Given the description of an element on the screen output the (x, y) to click on. 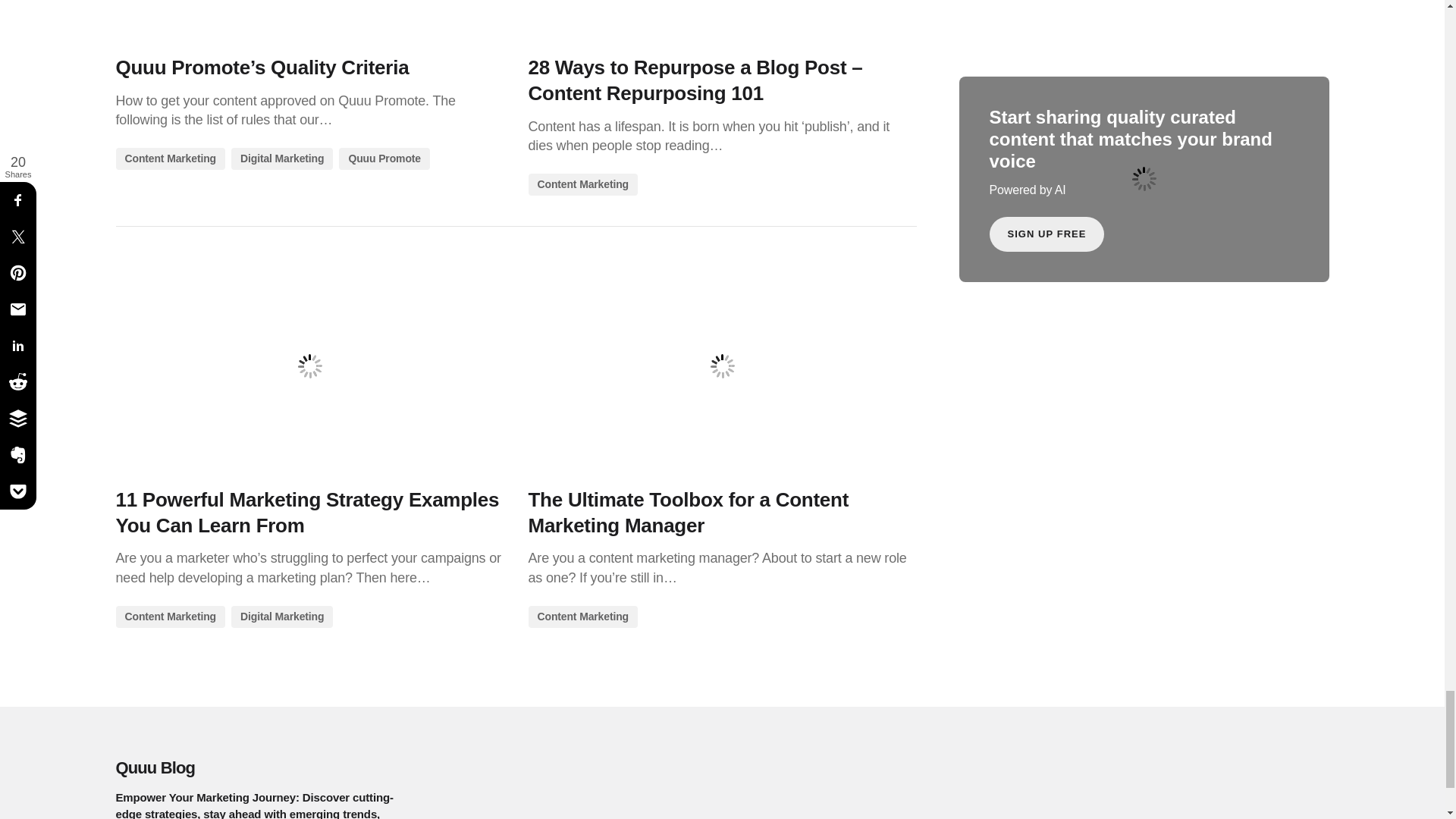
The Ultimate Toolbox for a Content Marketing Manager (721, 366)
11 Powerful Marketing Strategy Examples You Can Learn From (309, 366)
